Given the description of an element on the screen output the (x, y) to click on. 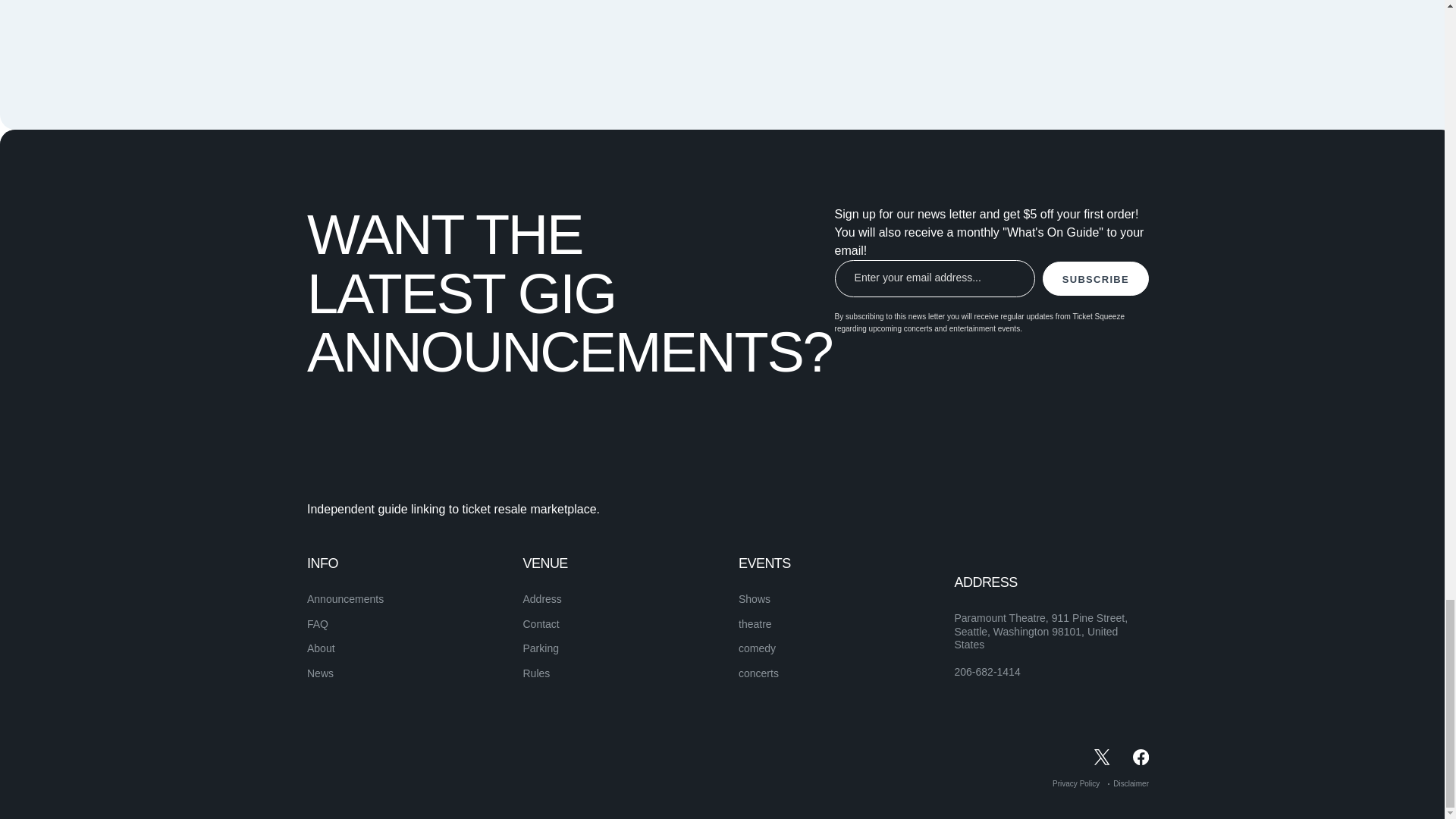
concerts (758, 673)
Disclaimer (1130, 783)
Rules (536, 673)
Contact (540, 623)
SUBSCRIBE (1095, 278)
Parking (540, 648)
Privacy Policy (1075, 783)
About (320, 648)
News (320, 673)
FAQ (318, 623)
